Given the description of an element on the screen output the (x, y) to click on. 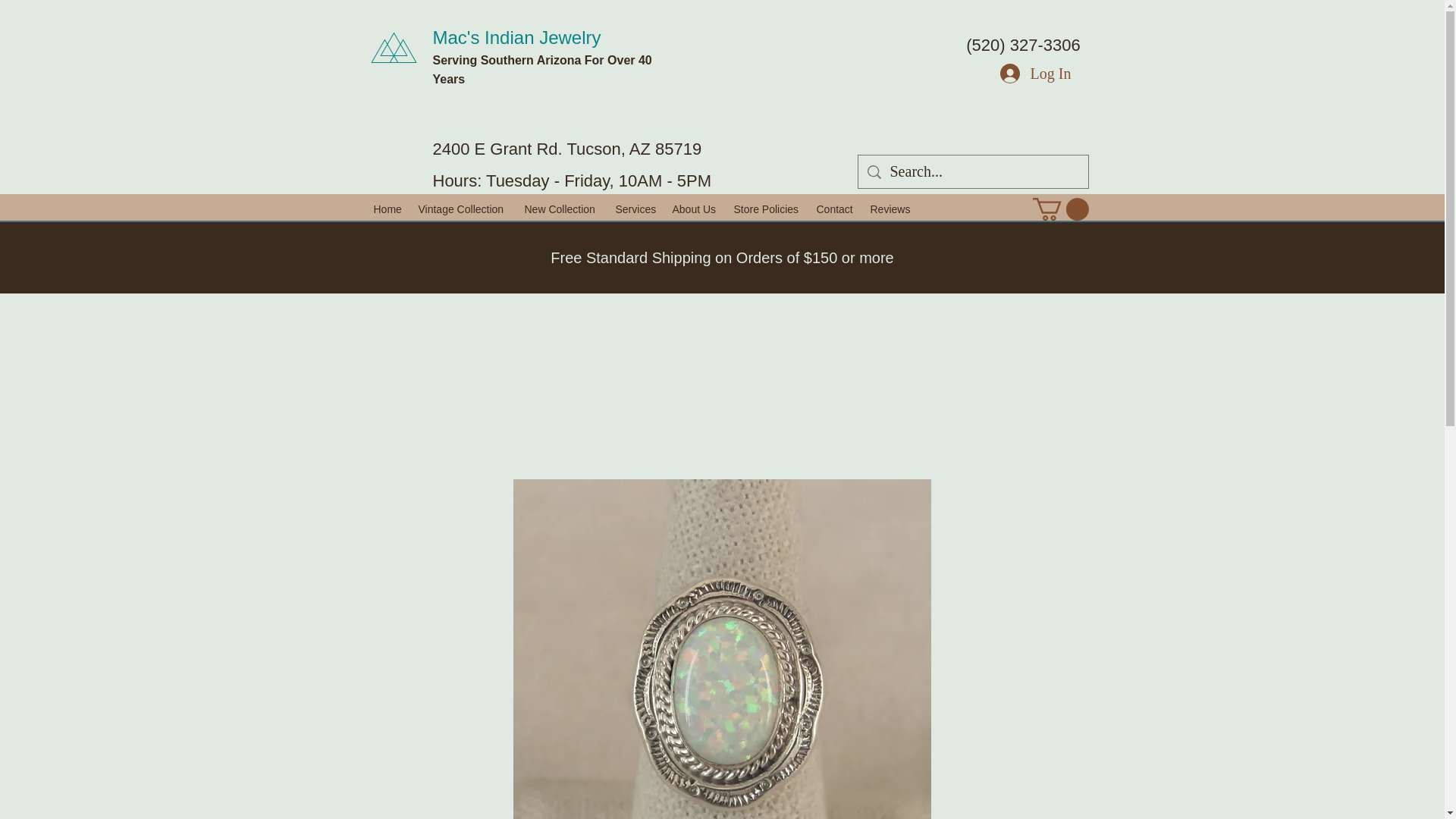
Store Policies (767, 209)
Vintage Collection (463, 209)
Reviews (890, 209)
Mac's Indian Jewelry (515, 37)
Log In (1035, 72)
Services (636, 209)
Home (387, 209)
Contact (834, 209)
About Us (694, 209)
New Collection (562, 209)
